Given the description of an element on the screen output the (x, y) to click on. 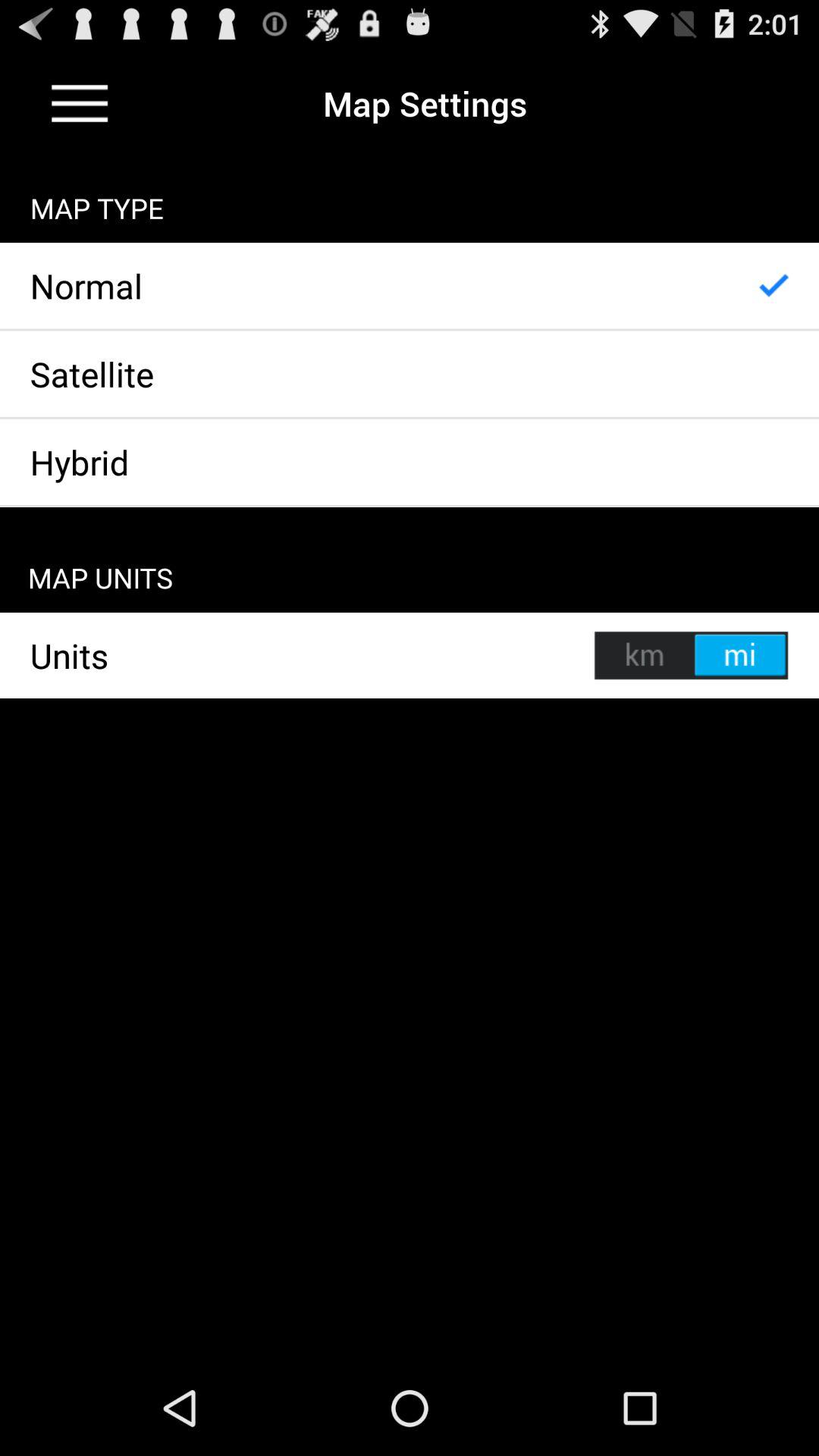
menu (79, 103)
